Given the description of an element on the screen output the (x, y) to click on. 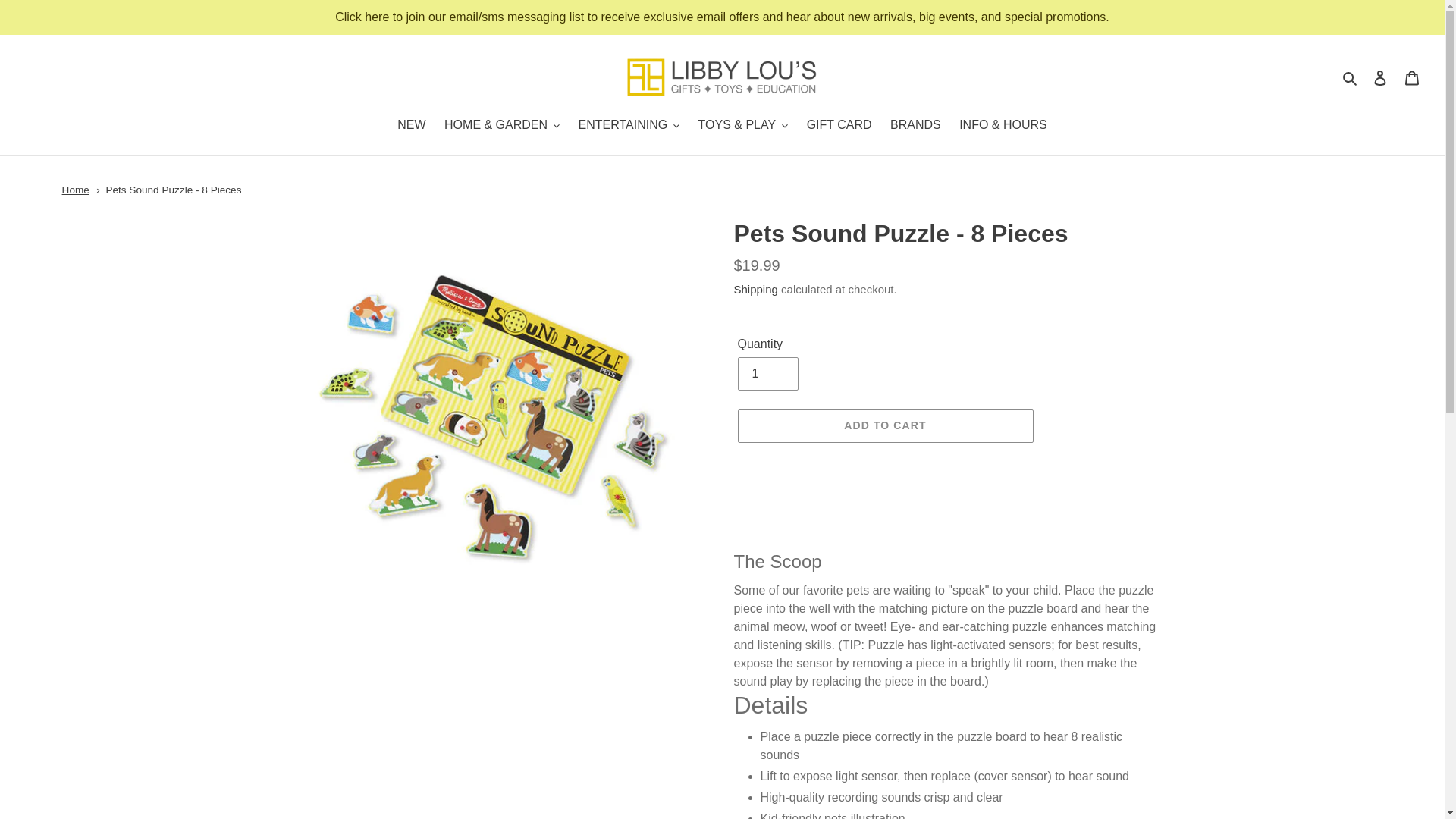
Search (1351, 76)
Log in (1380, 77)
Home (75, 189)
1 (766, 373)
Cart (1412, 77)
